Given the description of an element on the screen output the (x, y) to click on. 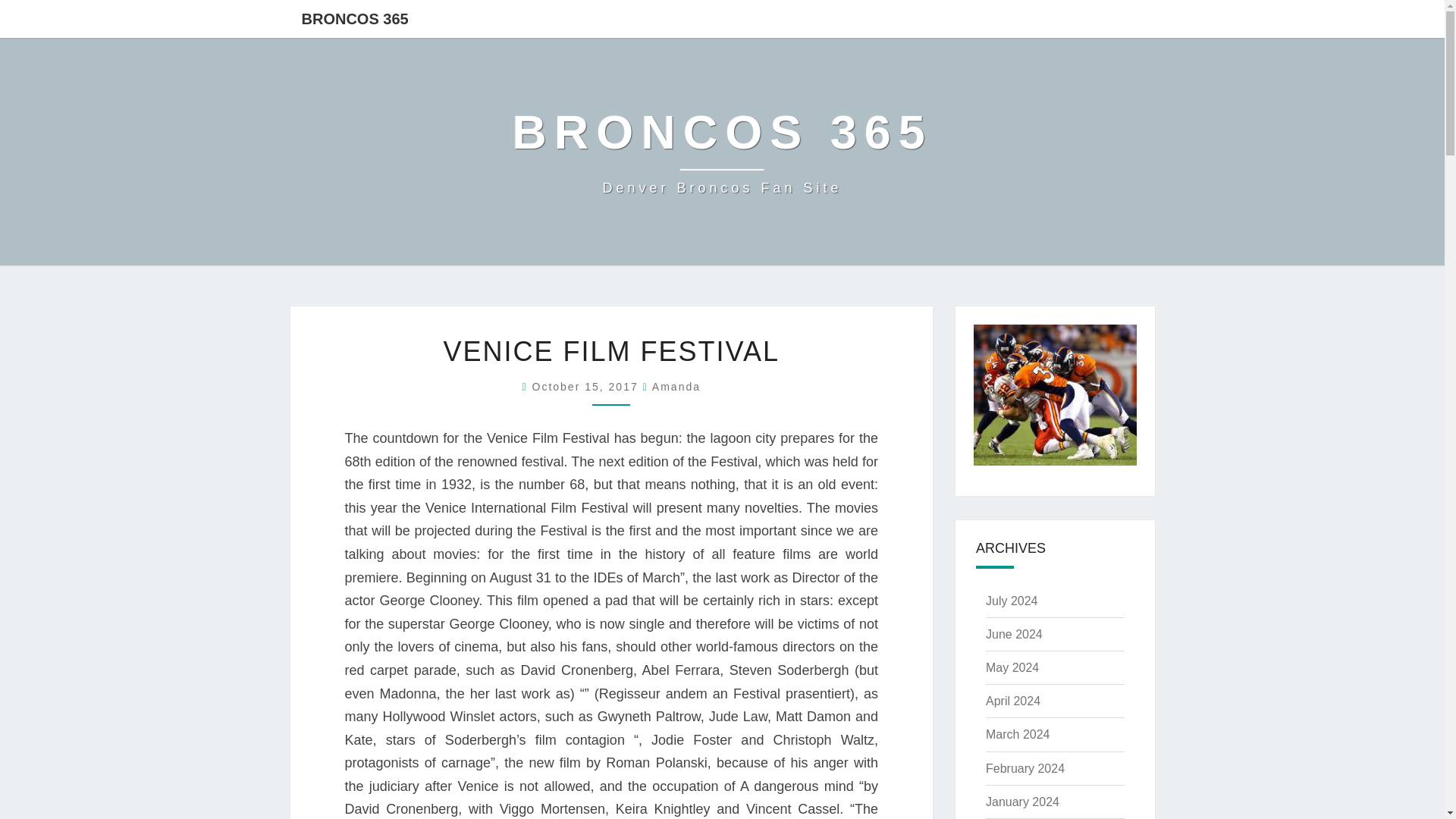
April 2024 (1013, 700)
Amanda (676, 386)
January 2024 (1022, 801)
February 2024 (1024, 768)
October 15, 2017 (722, 151)
July 2024 (587, 386)
View all posts by Amanda (1011, 600)
May 2024 (676, 386)
March 2024 (1012, 667)
June 2024 (1017, 734)
3:11 pm (1013, 634)
Broncos 365 (587, 386)
BRONCOS 365 (722, 151)
